Given the description of an element on the screen output the (x, y) to click on. 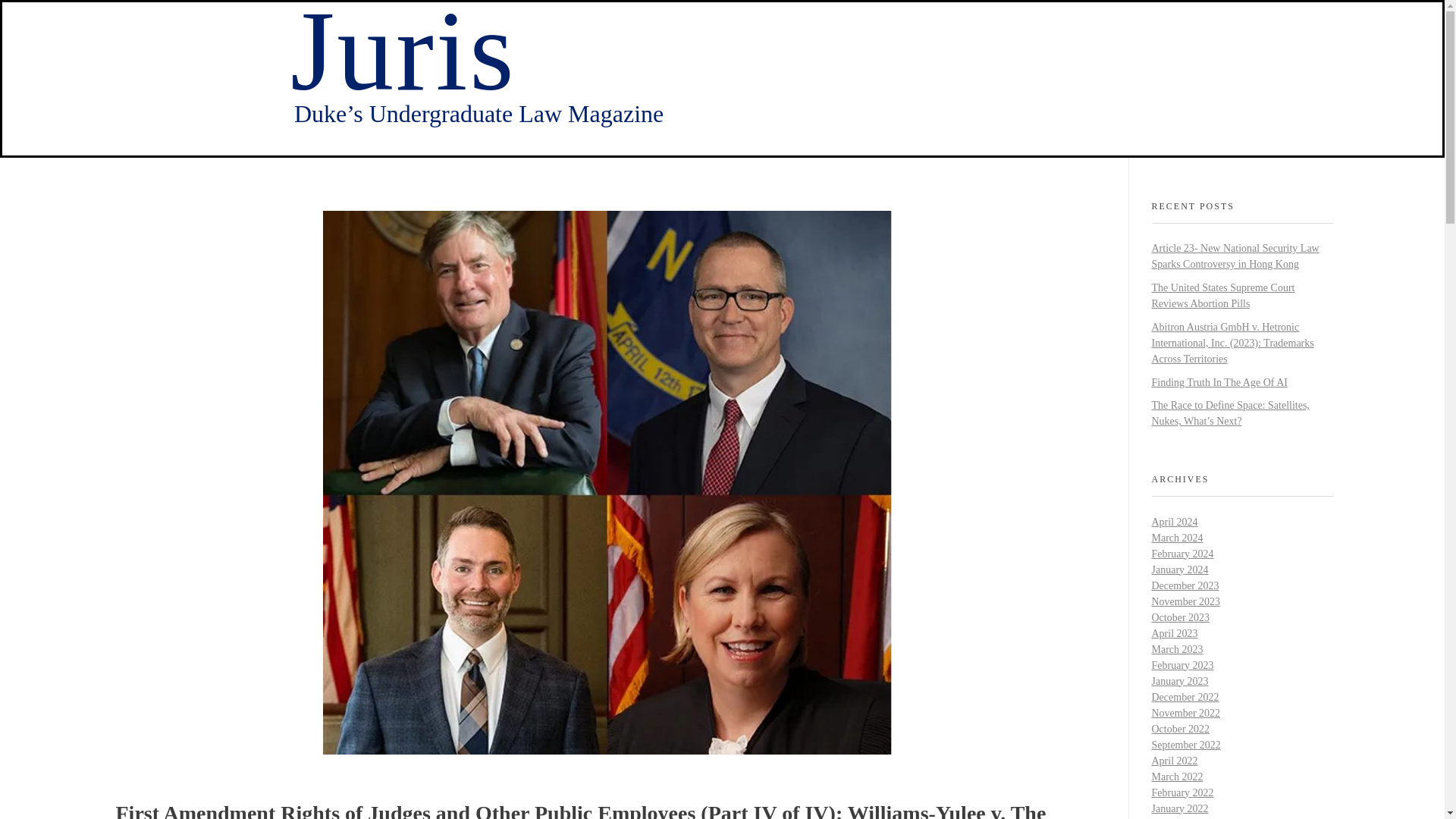
Finding Truth In The Age Of AI (1219, 382)
January 2024 (1179, 569)
March 2024 (1176, 537)
February 2024 (1181, 553)
Juris (402, 56)
Juris (402, 56)
The United States Supreme Court Reviews Abortion Pills (1222, 295)
April 2024 (1173, 521)
